Given the description of an element on the screen output the (x, y) to click on. 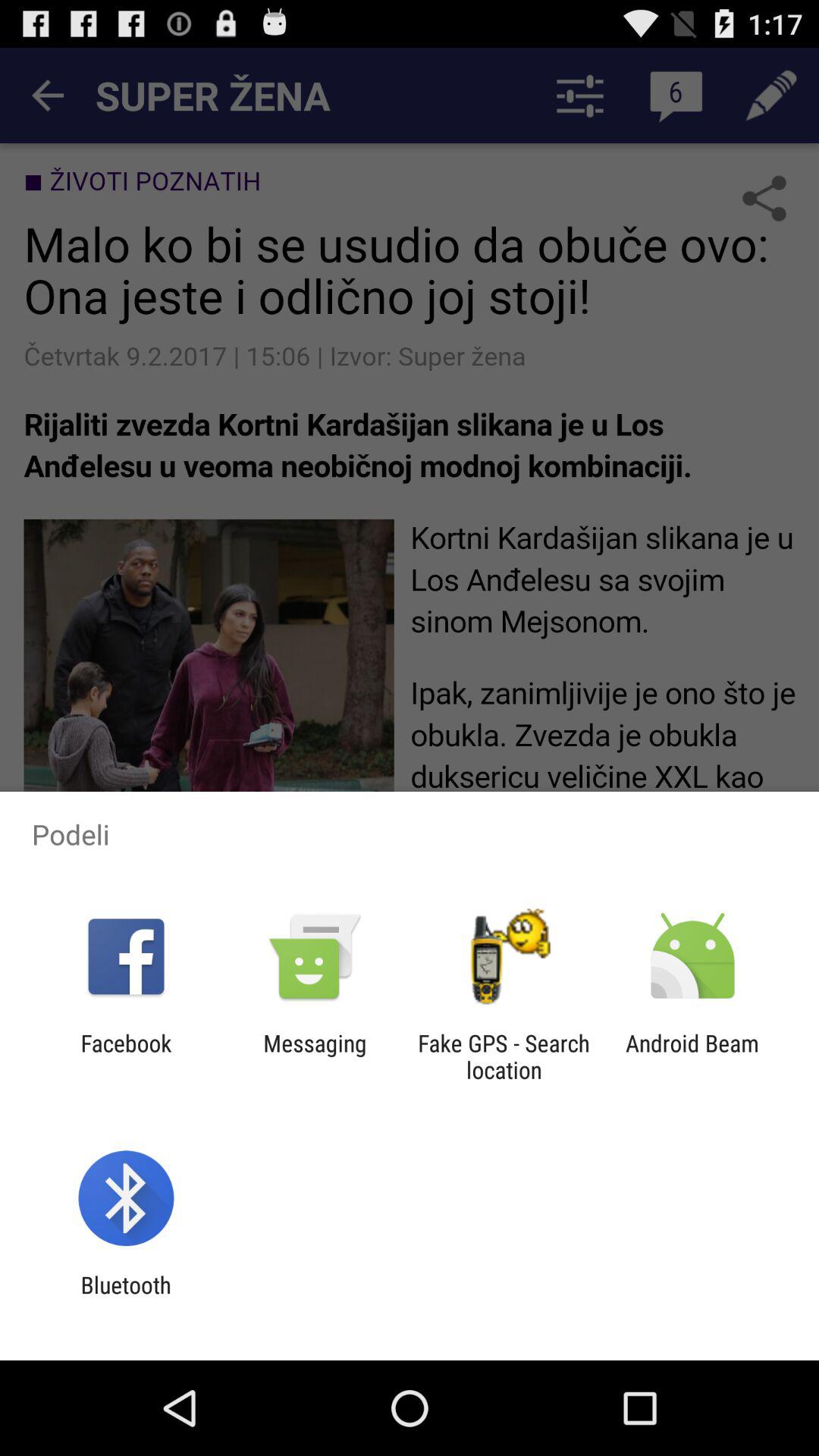
launch icon to the right of facebook app (314, 1056)
